Given the description of an element on the screen output the (x, y) to click on. 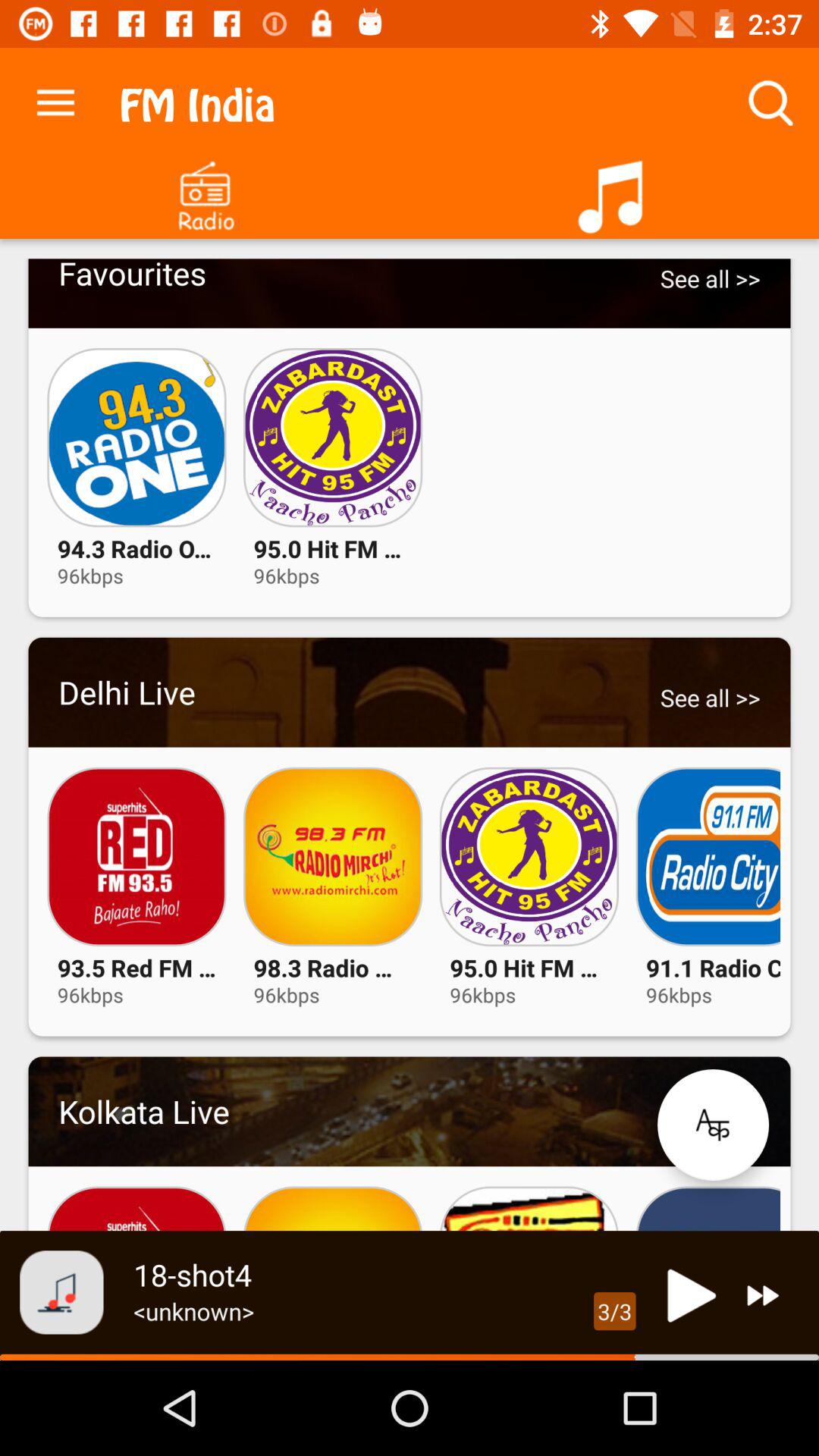
radio option (204, 190)
